Given the description of an element on the screen output the (x, y) to click on. 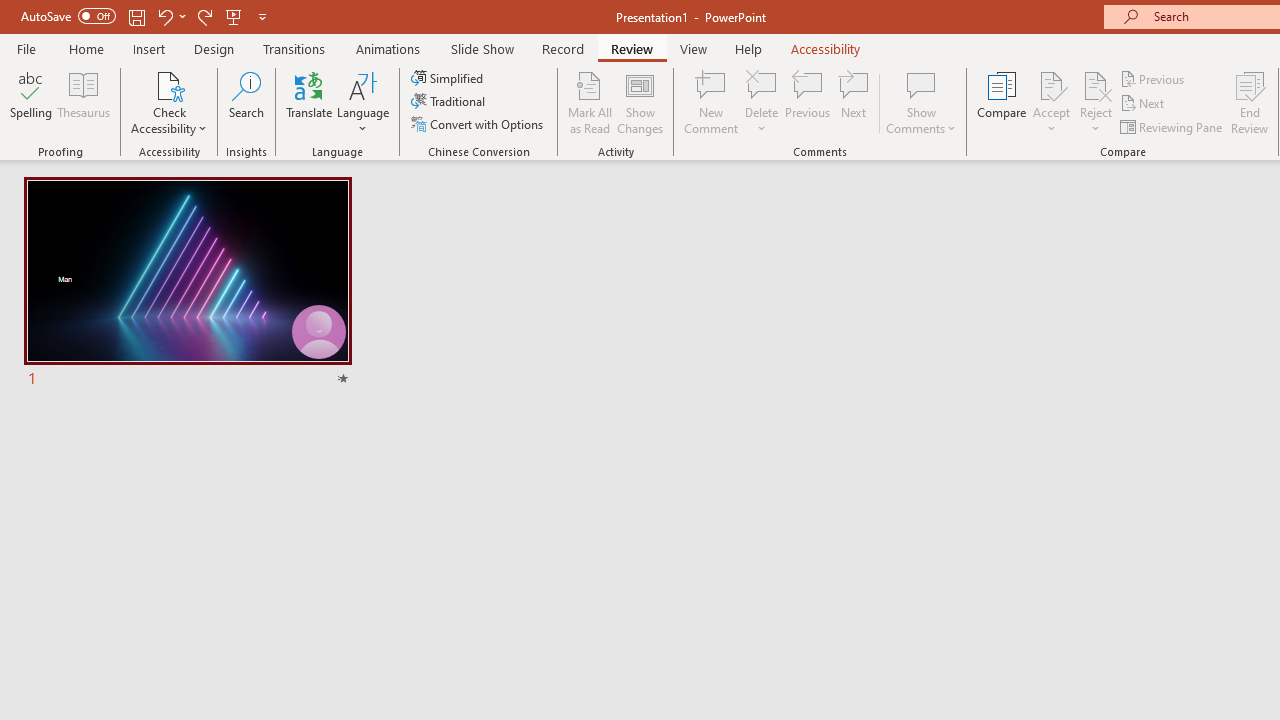
Show Comments (921, 84)
Simplified (449, 78)
Thesaurus... (83, 102)
Compare (1002, 102)
